Given the description of an element on the screen output the (x, y) to click on. 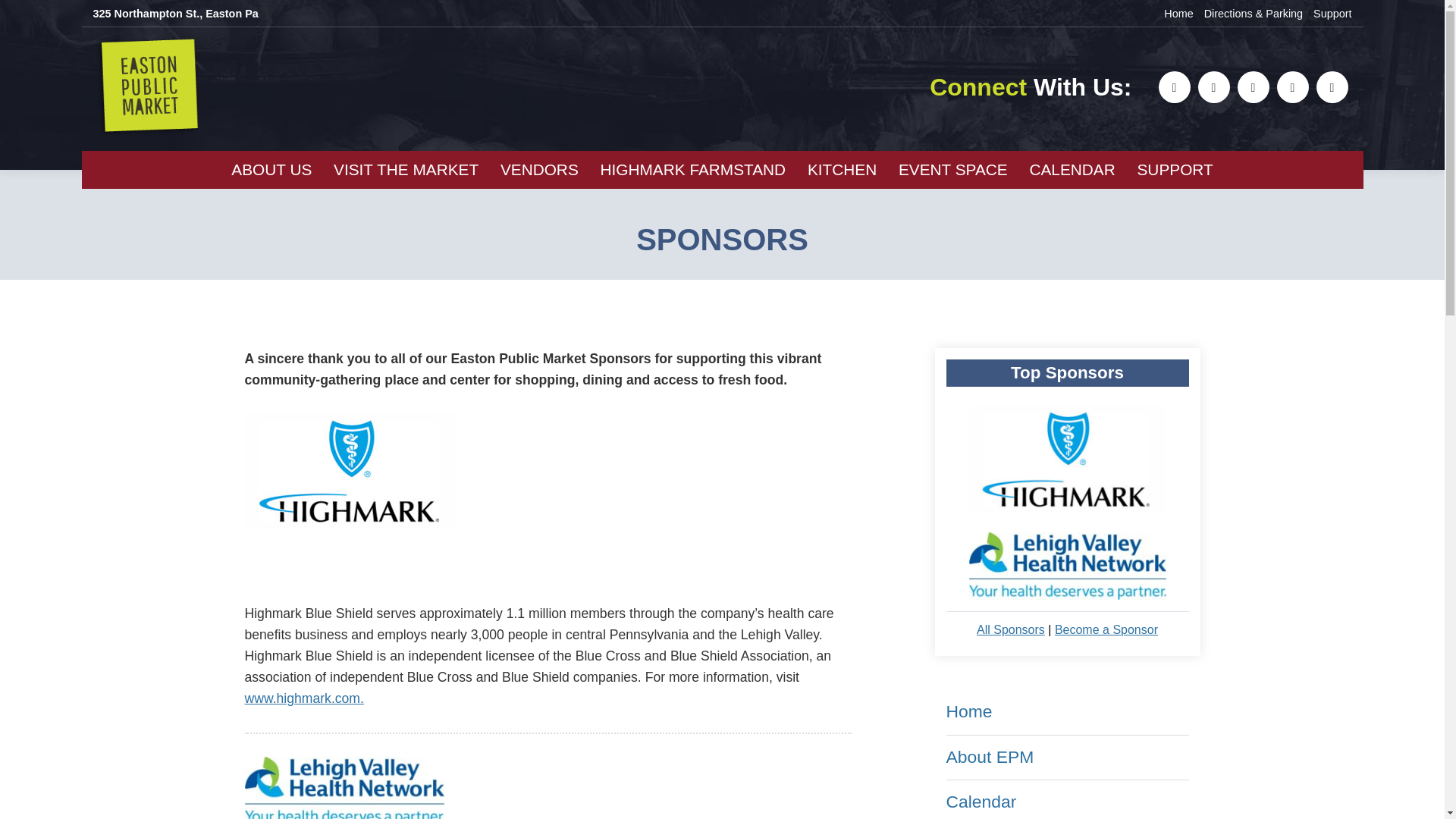
Home (1177, 13)
VENDORS (539, 169)
ABOUT US (272, 169)
VISIT THE MARKET (406, 169)
Support (1332, 13)
